Given the description of an element on the screen output the (x, y) to click on. 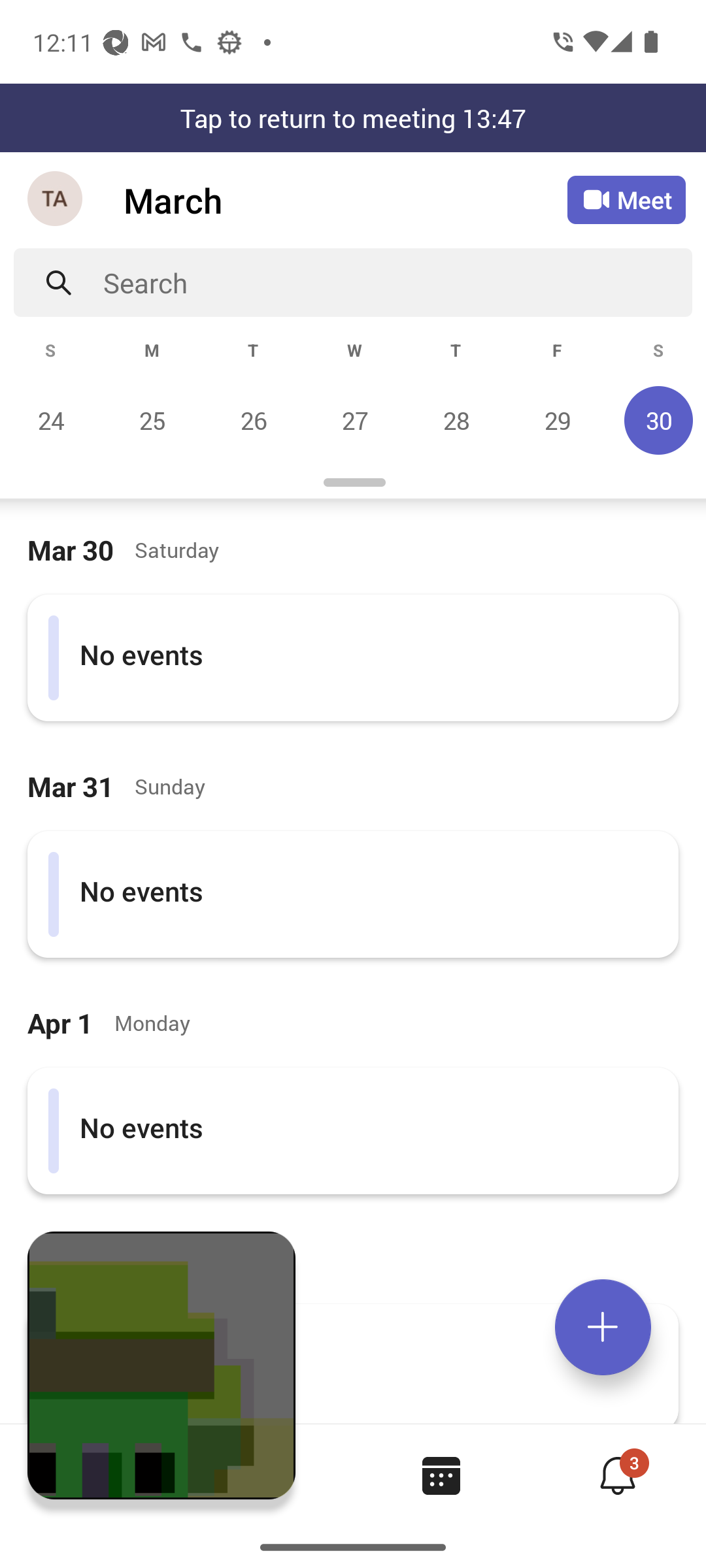
Tap to return to meeting 13:47 (353, 117)
Navigation (56, 199)
Meet Meet now or join with an ID (626, 199)
March March Calendar Agenda View (345, 199)
Search (397, 281)
Sunday, March 24 24 (50, 420)
Monday, March 25 25 (151, 420)
Tuesday, March 26 26 (253, 420)
Wednesday, March 27 27 (354, 420)
Thursday, March 28 28 (455, 420)
Friday, March 29 29 (556, 420)
Saturday, March 30, Selected 30 (656, 420)
Expand meetings menu (602, 1327)
Calendar tab, 3 of 4 (441, 1475)
Activity tab,4 of 4, not selected, 3 new 3 (617, 1475)
